Given the description of an element on the screen output the (x, y) to click on. 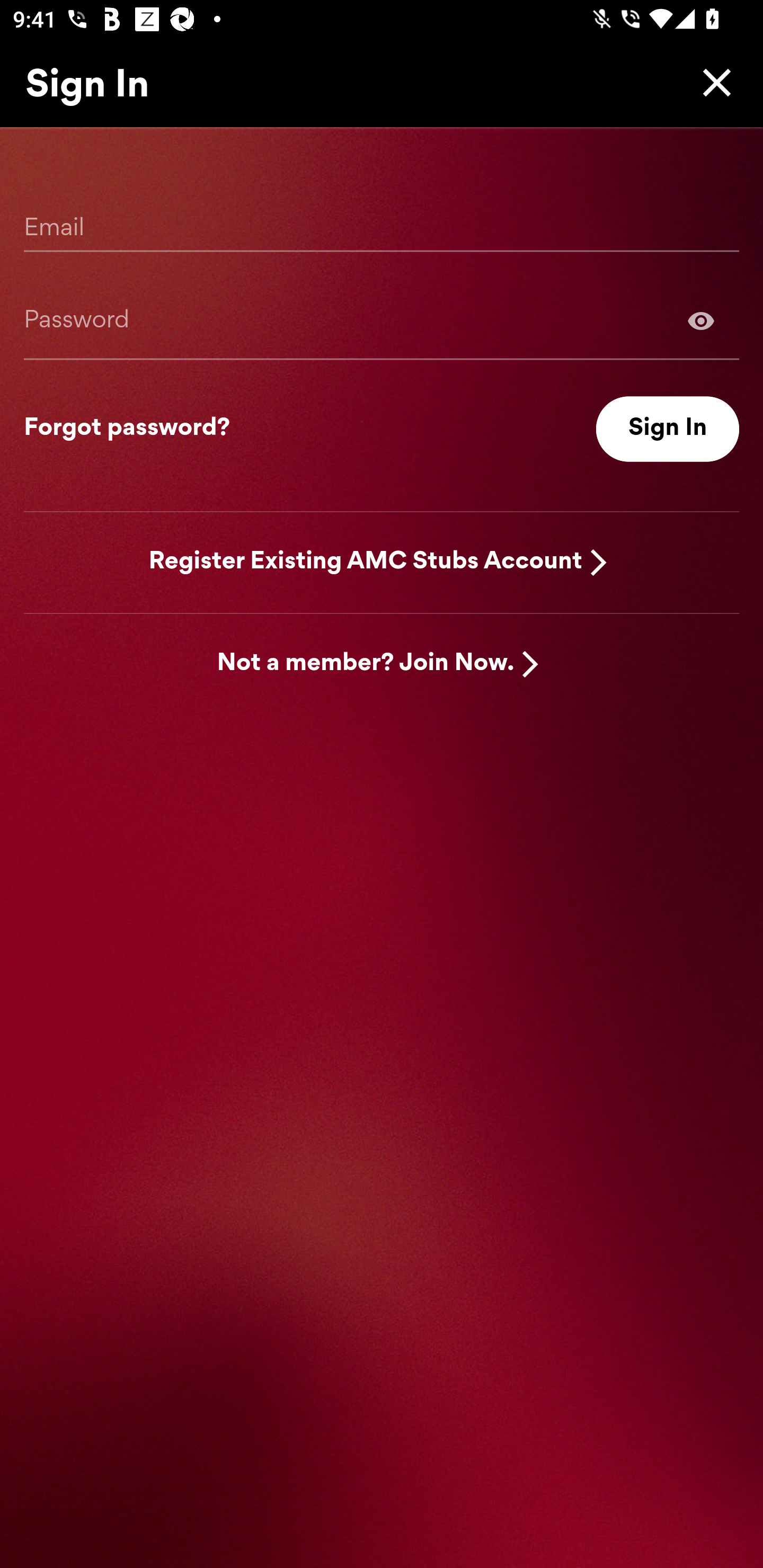
Close (712, 82)
Show Password (381, 320)
Show Password (701, 320)
Forgot password? (126, 428)
Sign In (667, 428)
Register Existing AMC Stubs Account (365, 561)
Not a member? Join Now. (365, 663)
